Given the description of an element on the screen output the (x, y) to click on. 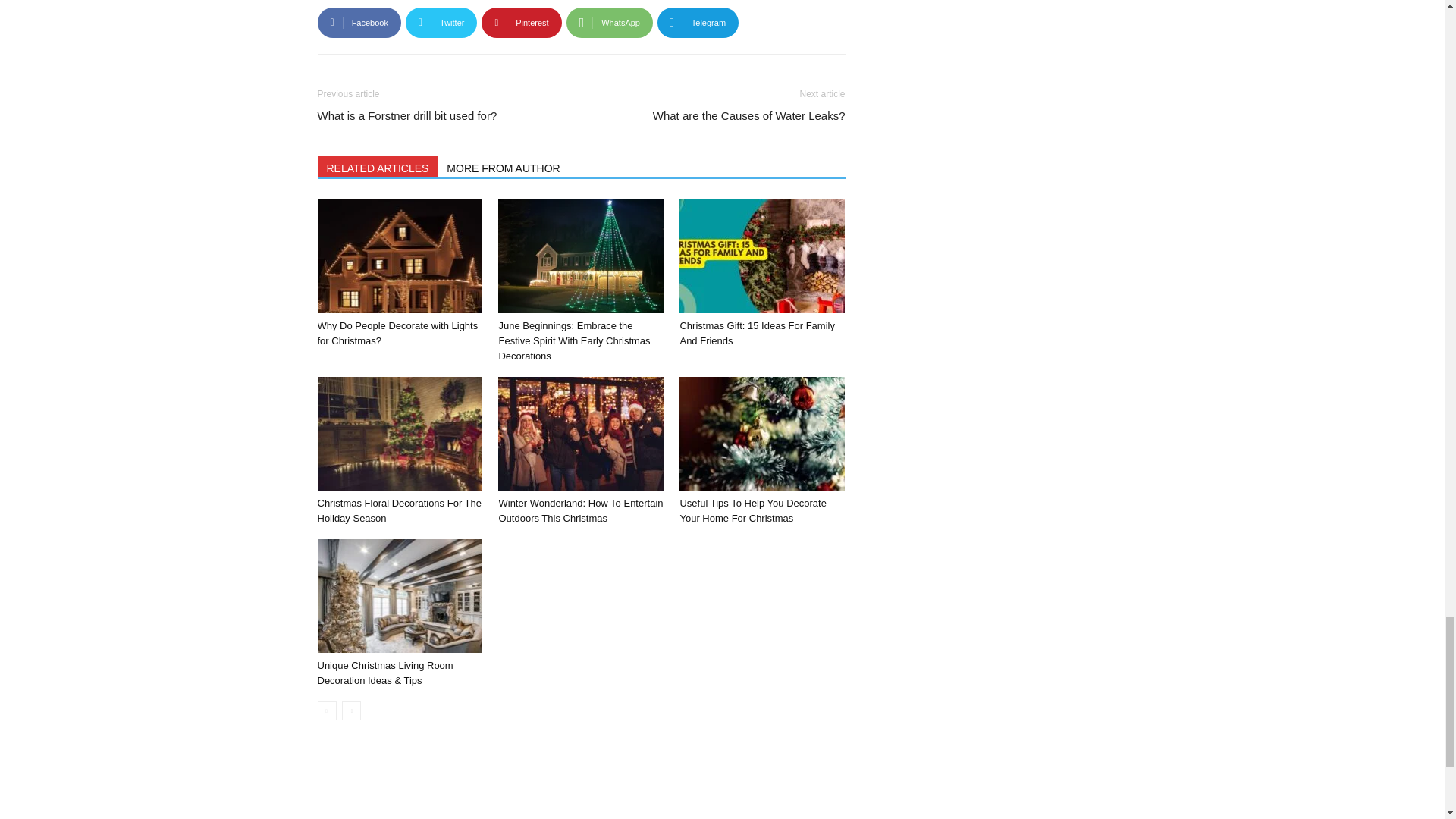
Facebook (358, 22)
Twitter (441, 22)
Pinterest (520, 22)
